Given the description of an element on the screen output the (x, y) to click on. 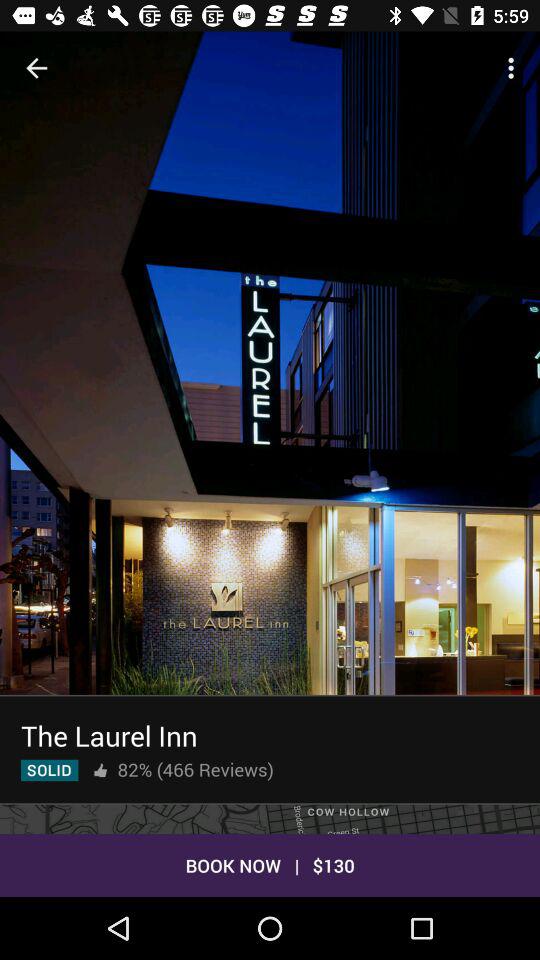
swipe until the 82% (466 reviews) icon (195, 769)
